Given the description of an element on the screen output the (x, y) to click on. 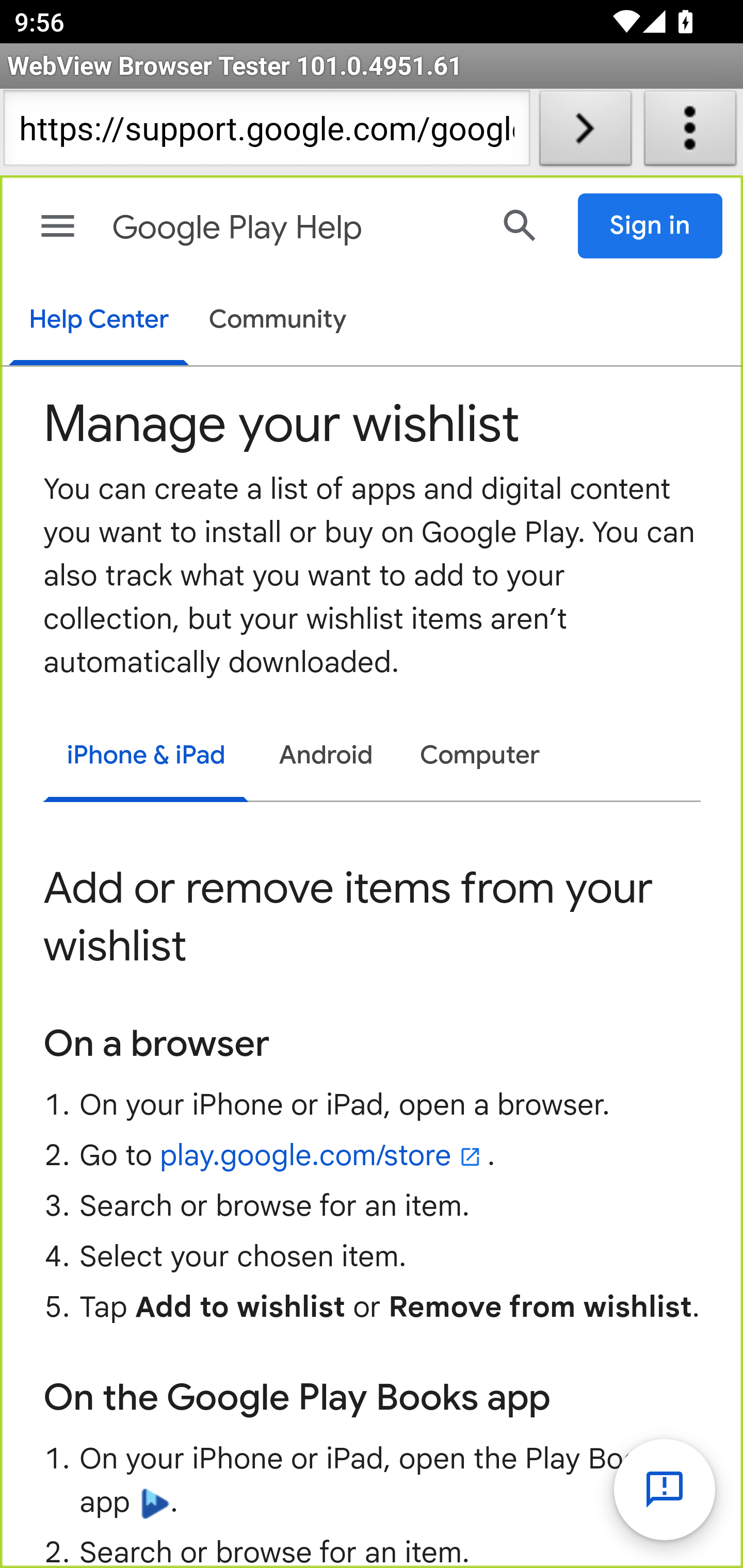
Load URL (585, 132)
About WebView (690, 132)
Main menu (58, 226)
Google Play Help (292, 227)
Search Help Center (519, 225)
Sign in (650, 226)
Help Center (98, 320)
Community (277, 320)
iPhone & iPad (145, 757)
Android (325, 756)
Computer (479, 756)
play.google.com/store (323, 1155)
